Given the description of an element on the screen output the (x, y) to click on. 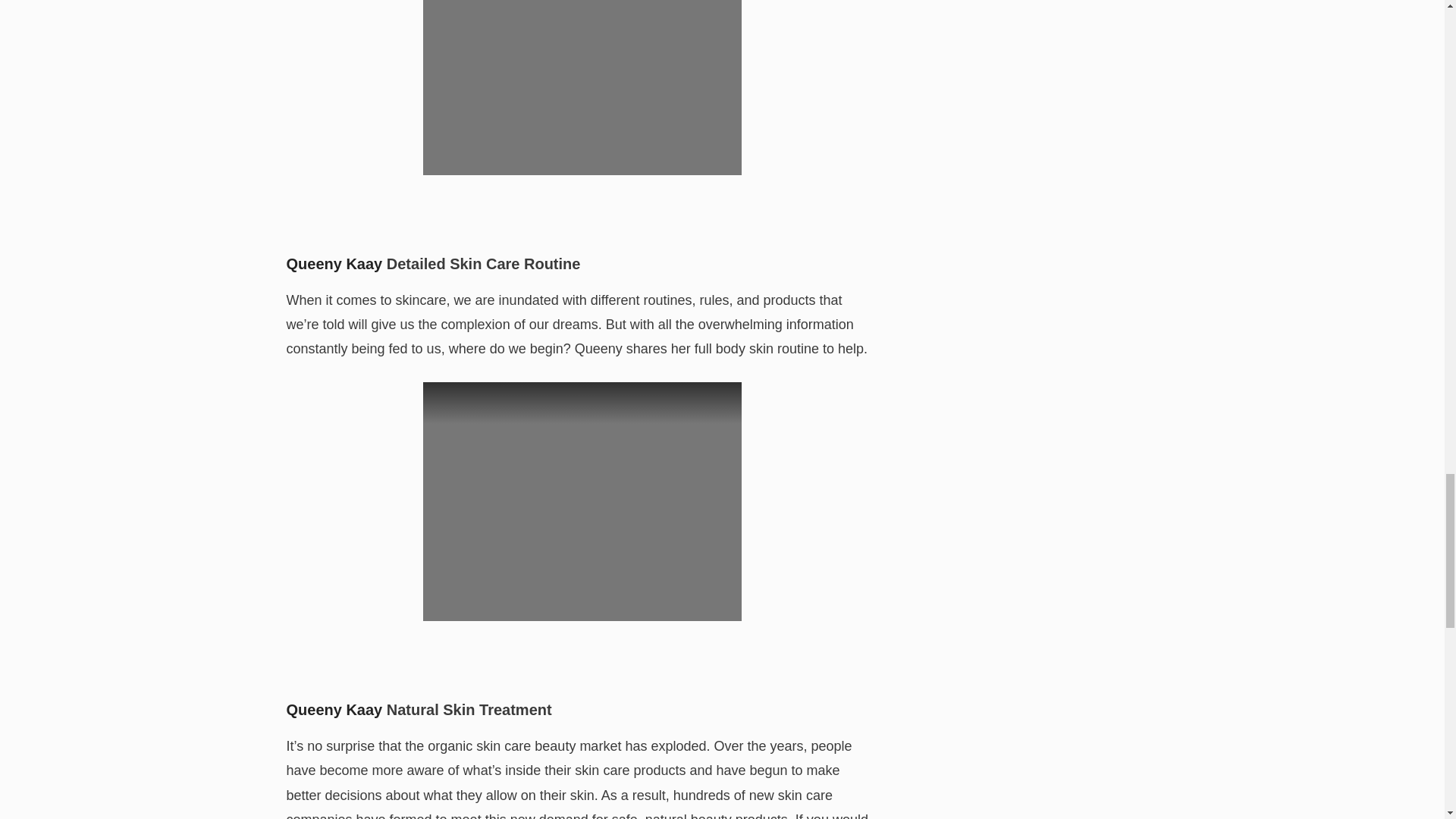
Queeny Kaay (334, 263)
Queeny Kaay (334, 709)
